Given the description of an element on the screen output the (x, y) to click on. 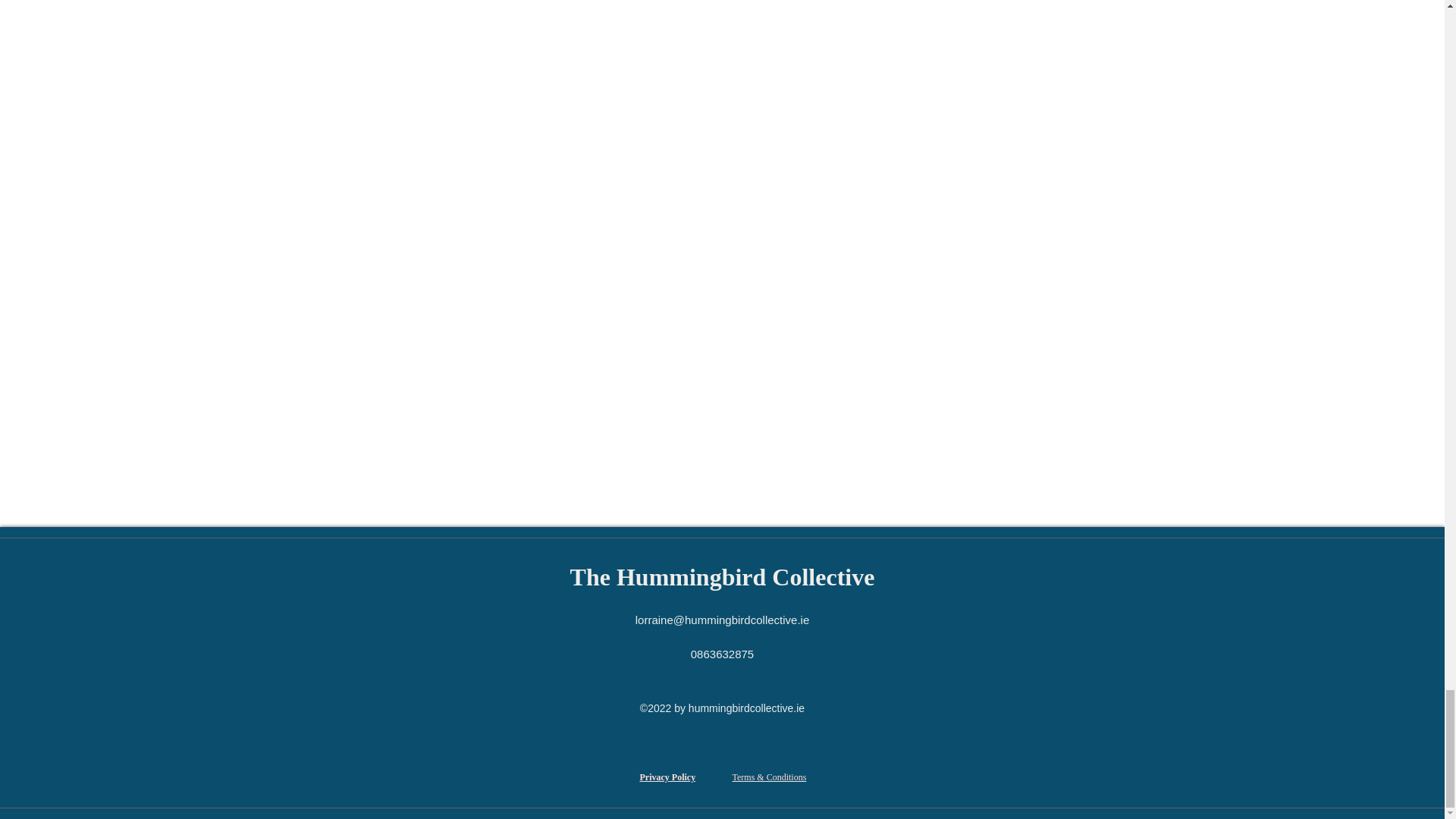
Privacy Policy (667, 777)
